Given the description of an element on the screen output the (x, y) to click on. 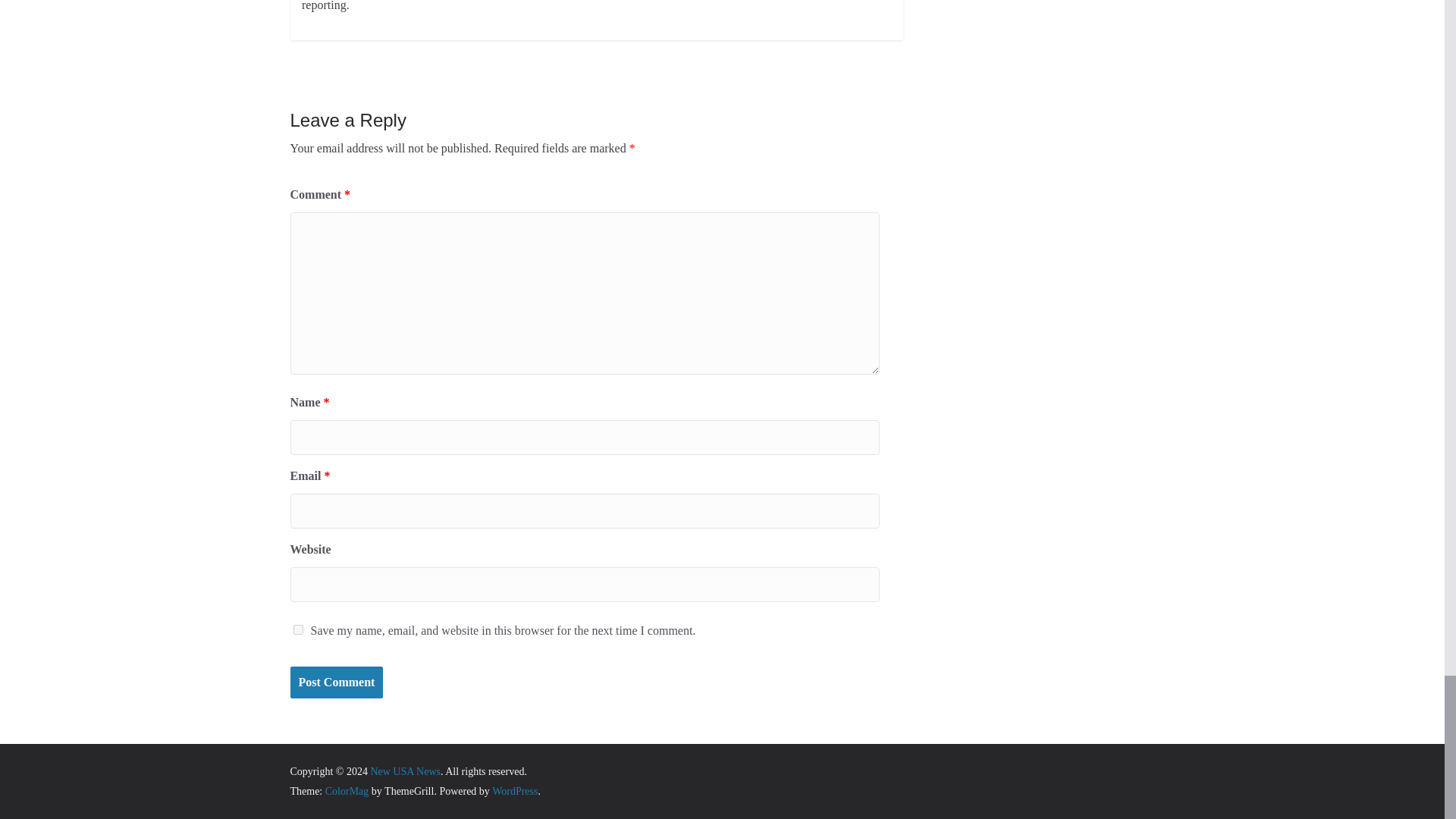
yes (297, 629)
Post Comment (335, 682)
WordPress (514, 790)
Post Comment (335, 682)
ColorMag (346, 790)
New USA  News (405, 771)
